Given the description of an element on the screen output the (x, y) to click on. 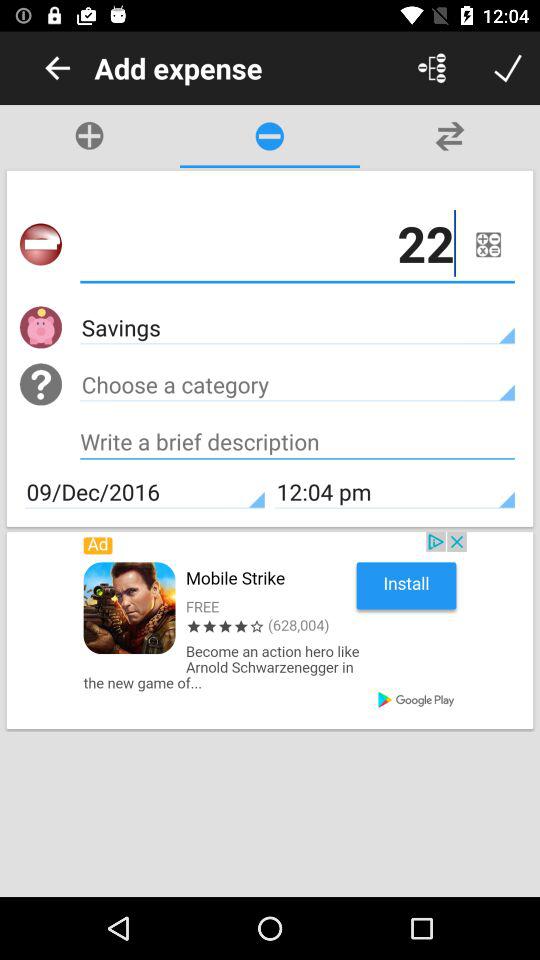
address page (297, 444)
